Given the description of an element on the screen output the (x, y) to click on. 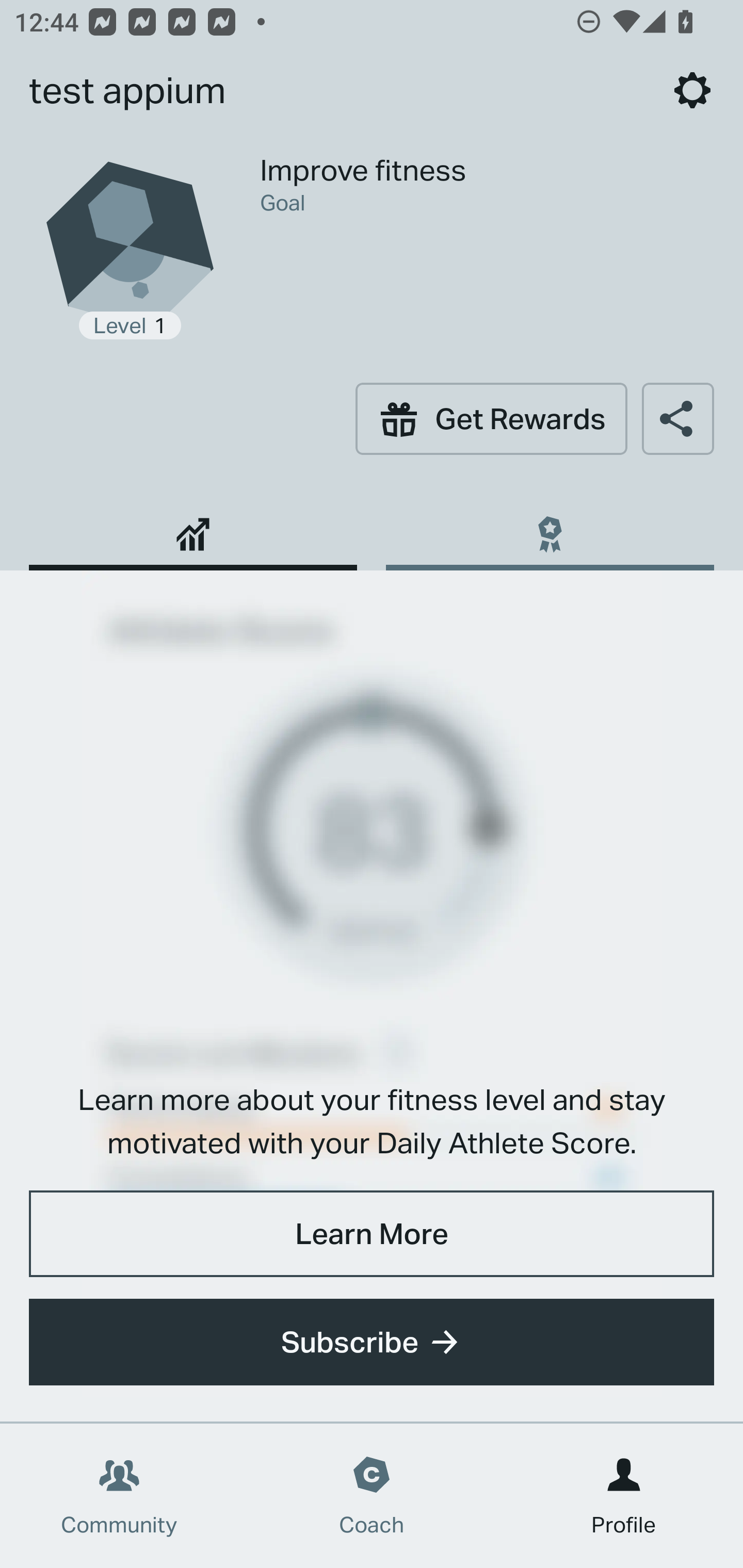
Settings (692, 90)
Get Rewards (491, 418)
Daily Athlete Score (192, 527)
Hall of Fame (549, 527)
Learn More (371, 1233)
Subscribe (371, 1342)
Community (119, 1495)
Coach (371, 1495)
